Given the description of an element on the screen output the (x, y) to click on. 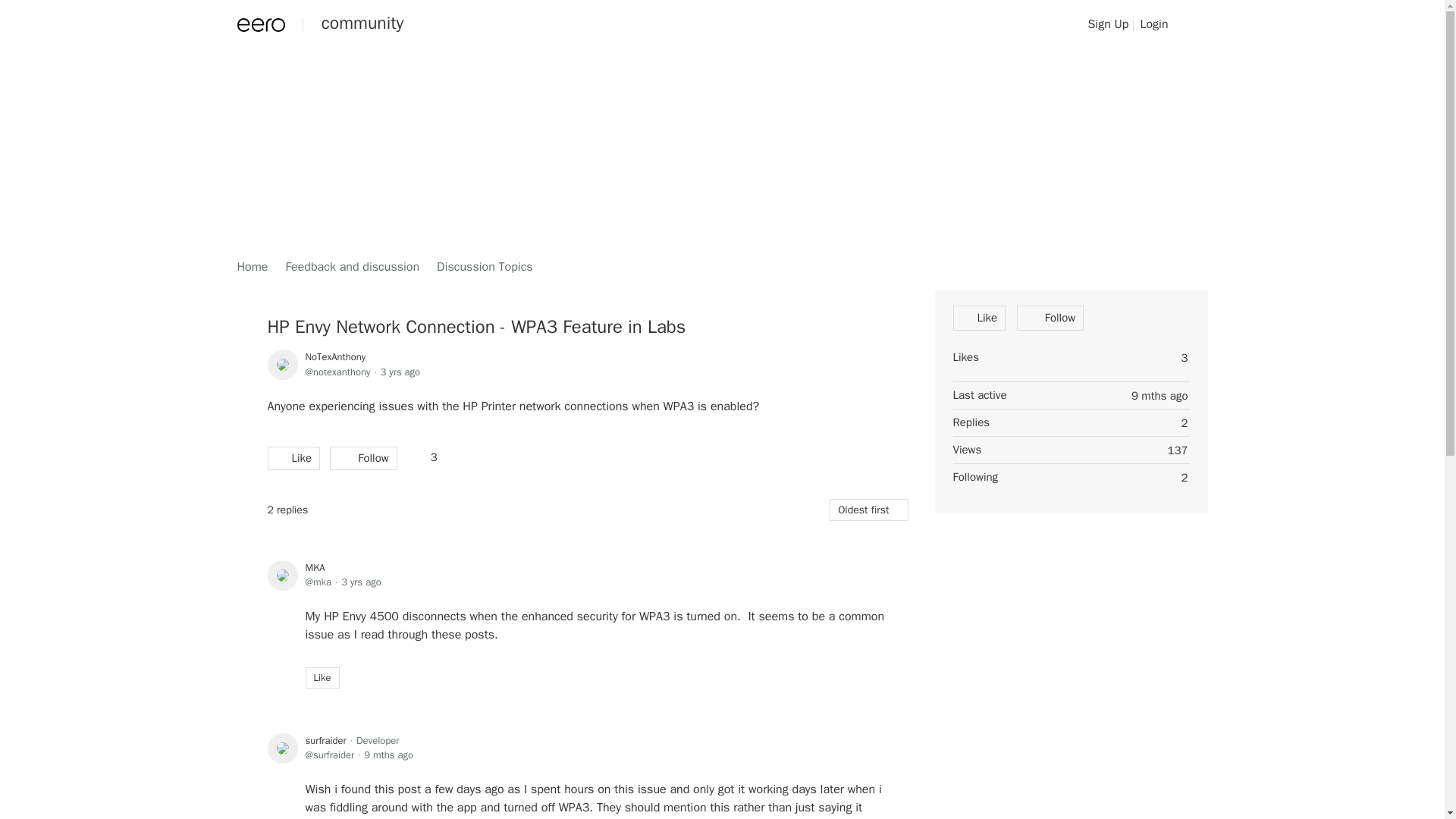
Like (293, 457)
3 (426, 456)
Feedback and discussion (352, 267)
community (362, 23)
Discussion Topics (484, 267)
Follow (1049, 317)
NoTexAnthony (334, 356)
Like (321, 677)
MKA (314, 567)
Login (1153, 24)
